Given the description of an element on the screen output the (x, y) to click on. 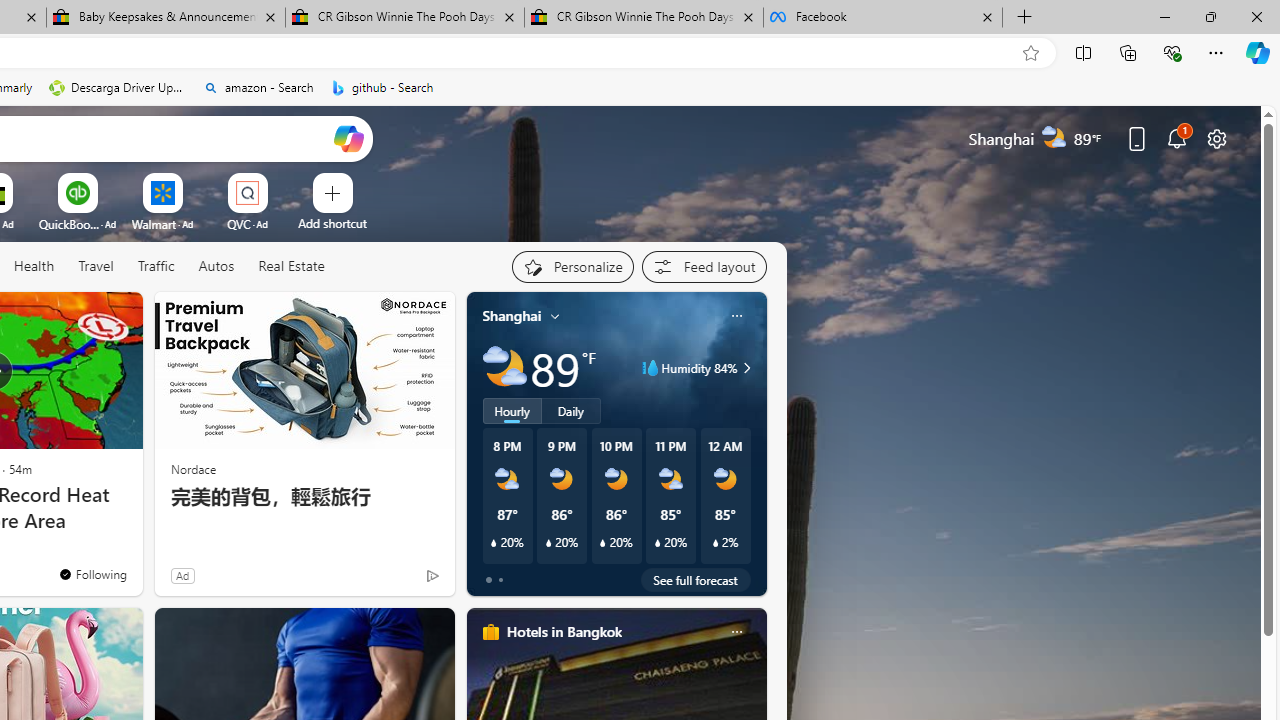
Descarga Driver Updater (118, 88)
Humidity 84% (744, 367)
Hotels in Bangkok (563, 631)
Traffic (155, 267)
Partly cloudy (504, 368)
Hide this story (82, 315)
Travel (95, 265)
tab-1 (500, 579)
Hourly (511, 411)
